Given the description of an element on the screen output the (x, y) to click on. 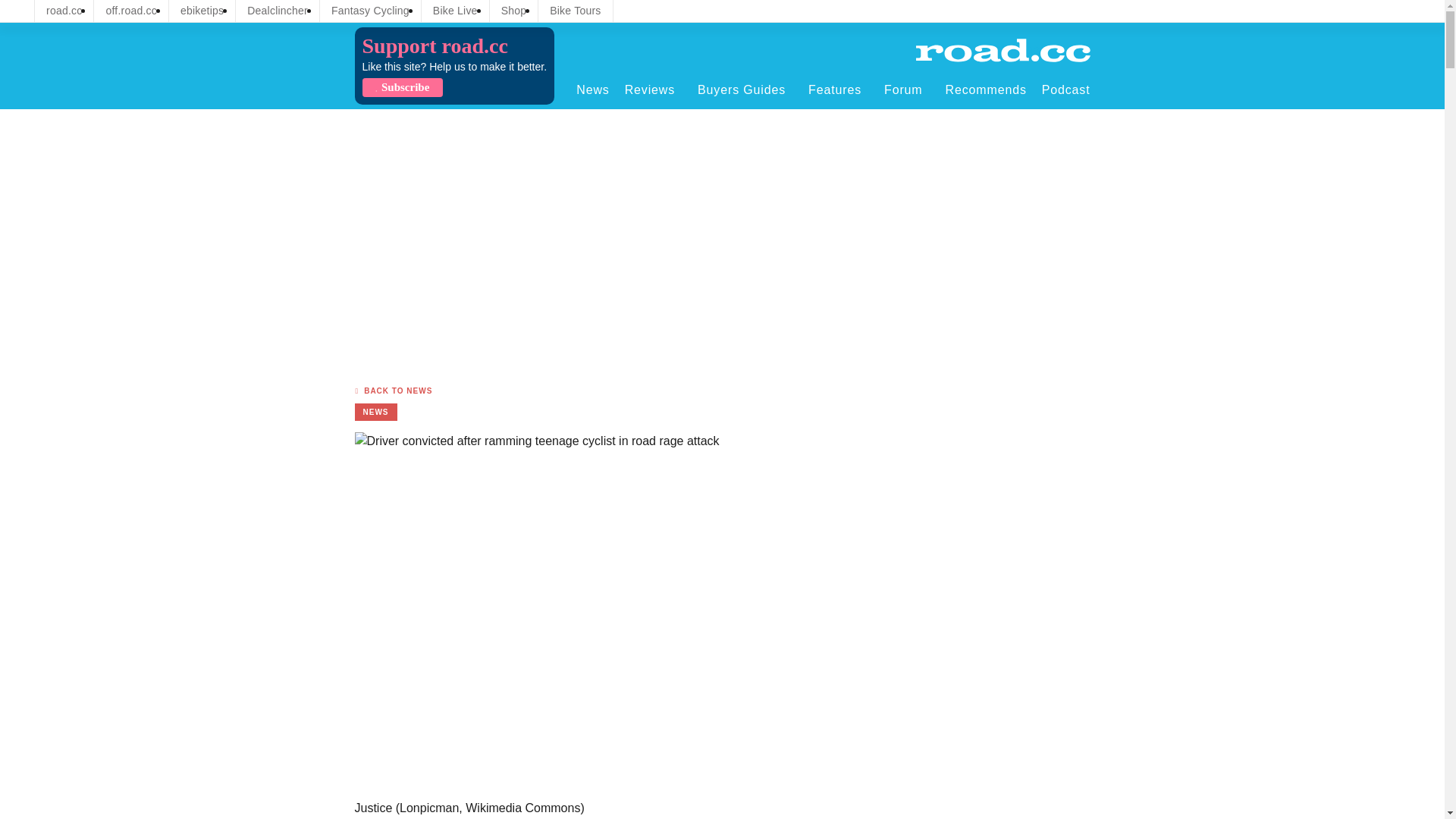
off.road.cc (131, 11)
ebiketips (201, 11)
Bike Live (455, 11)
Reviews (653, 89)
Fantasy Cycling (370, 11)
road.cc (63, 11)
Dealclincher (276, 11)
Home (1002, 50)
Bike Tours (574, 11)
Subscribe (402, 87)
